Given the description of an element on the screen output the (x, y) to click on. 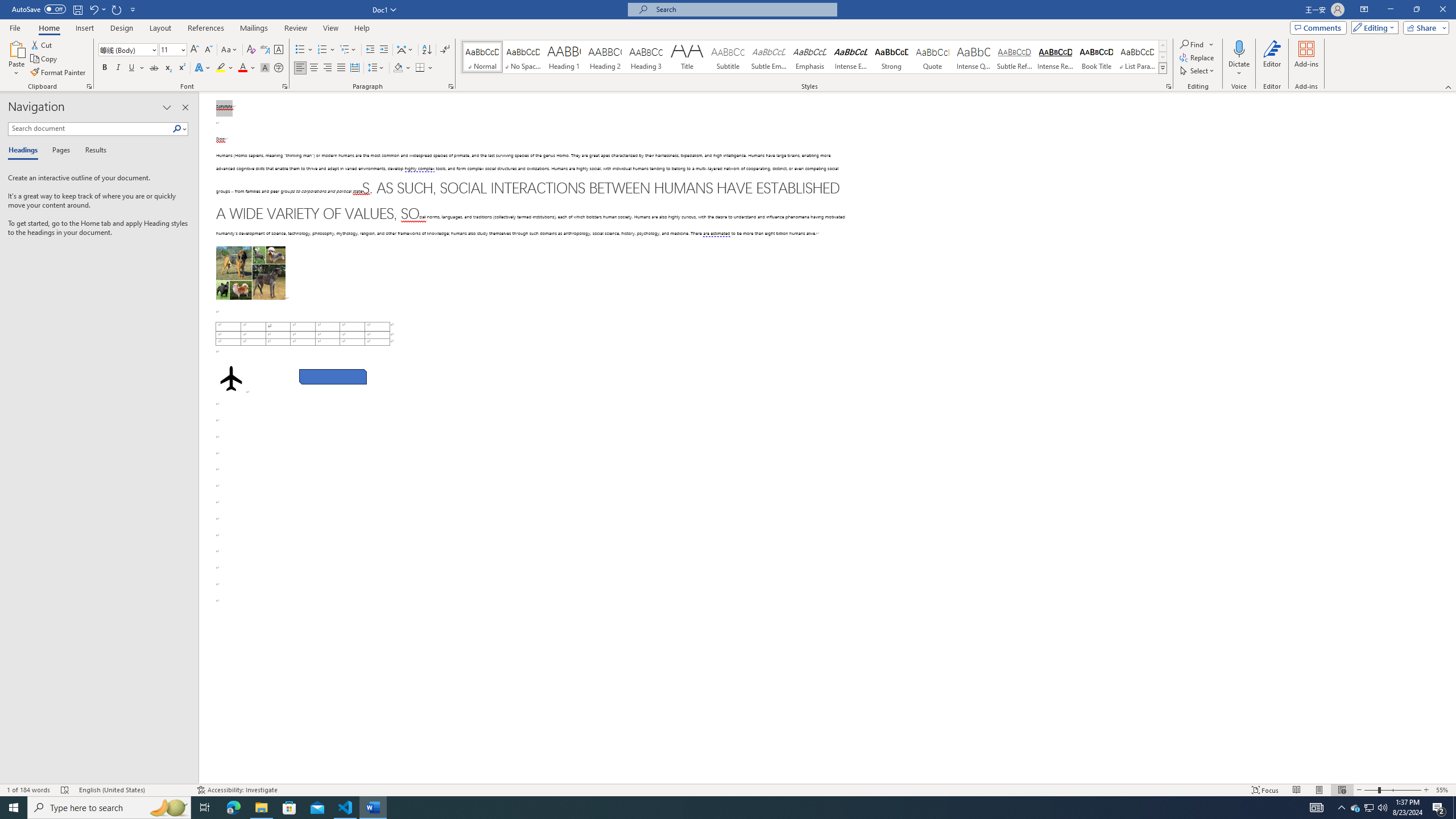
Share (1423, 27)
Accessibility Checker Accessibility: Investigate (237, 790)
Format Painter (58, 72)
Subtle Emphasis (768, 56)
Shading (402, 67)
Row Down (1162, 56)
Airplane with solid fill (230, 378)
Search document (89, 128)
Font Color (246, 67)
Character Border (278, 49)
Zoom Out (1370, 790)
Book Title (1095, 56)
Find (1192, 44)
Justify (340, 67)
